Given the description of an element on the screen output the (x, y) to click on. 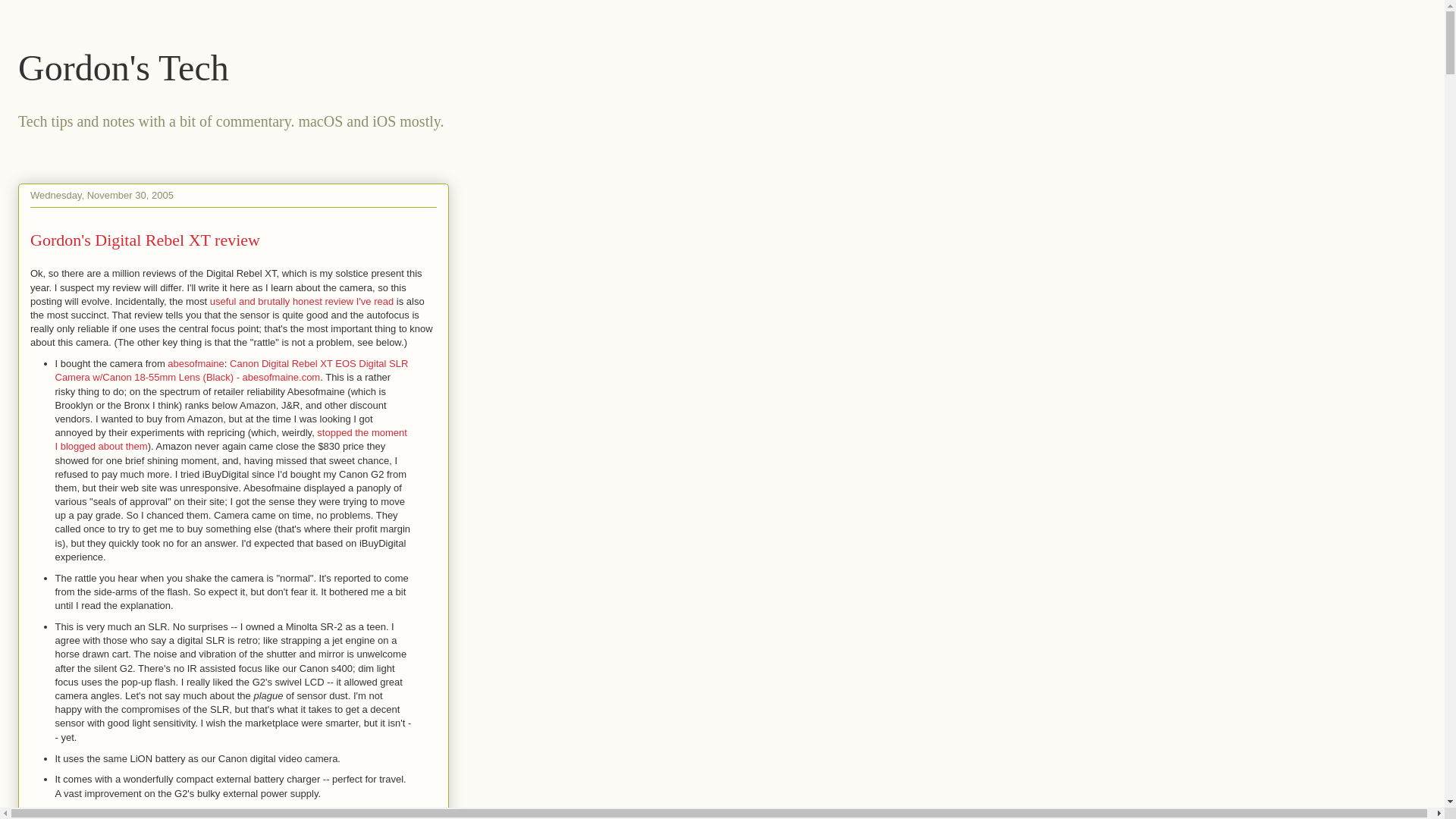
abesofmaine (195, 363)
useful and brutally honest review I've read (301, 301)
stopped the moment I blogged about them (230, 439)
Gordon's Tech (122, 67)
